Given the description of an element on the screen output the (x, y) to click on. 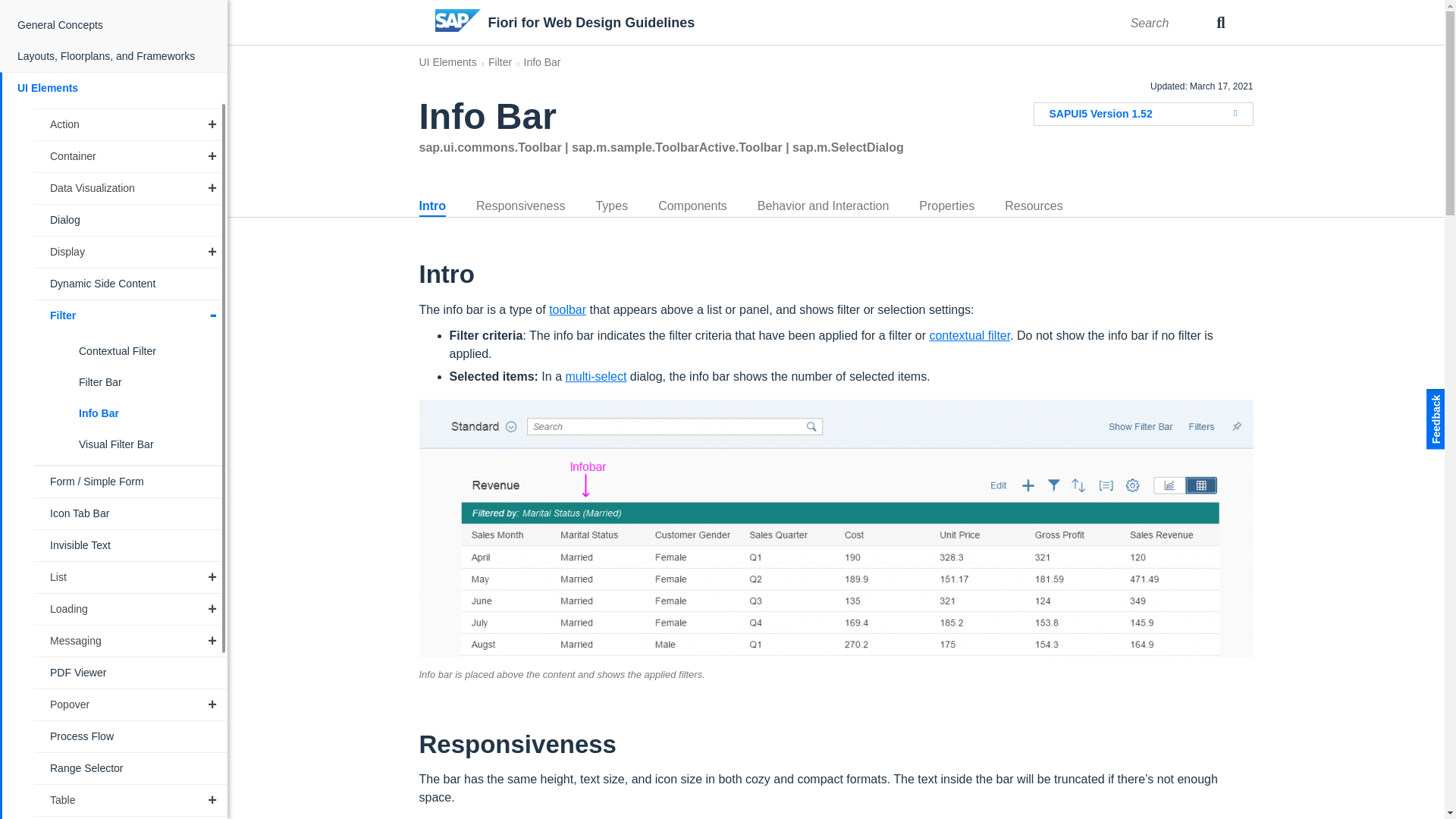
Foundation (114, 4)
General Concepts (114, 24)
